Given the description of an element on the screen output the (x, y) to click on. 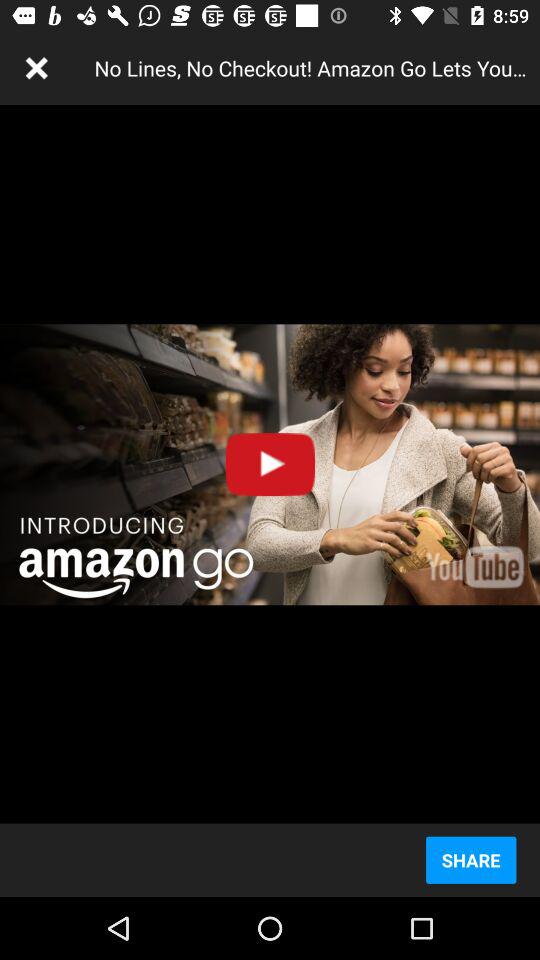
select the icon at the bottom right corner (470, 859)
